Given the description of an element on the screen output the (x, y) to click on. 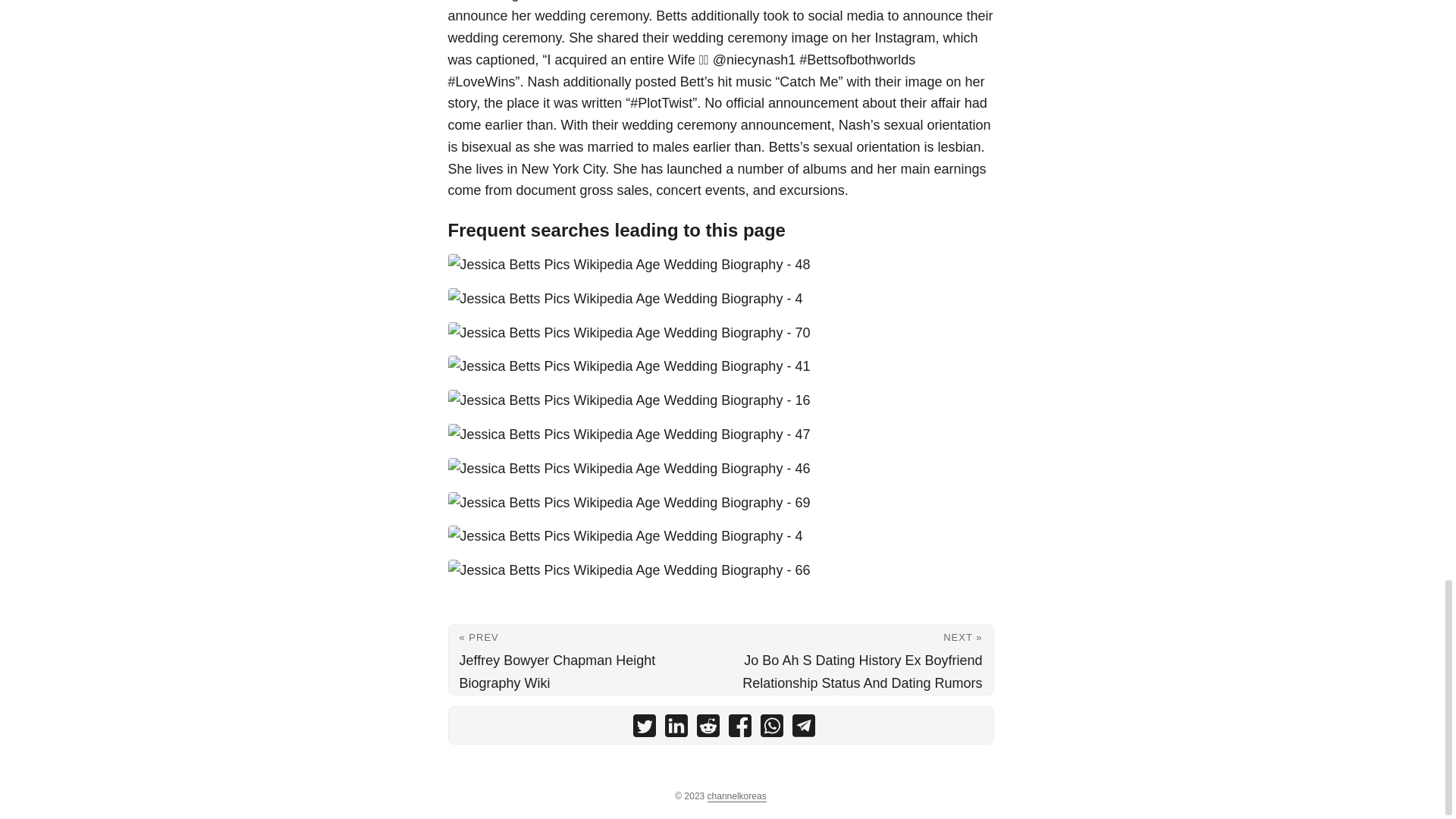
channelkoreas (737, 796)
